Given the description of an element on the screen output the (x, y) to click on. 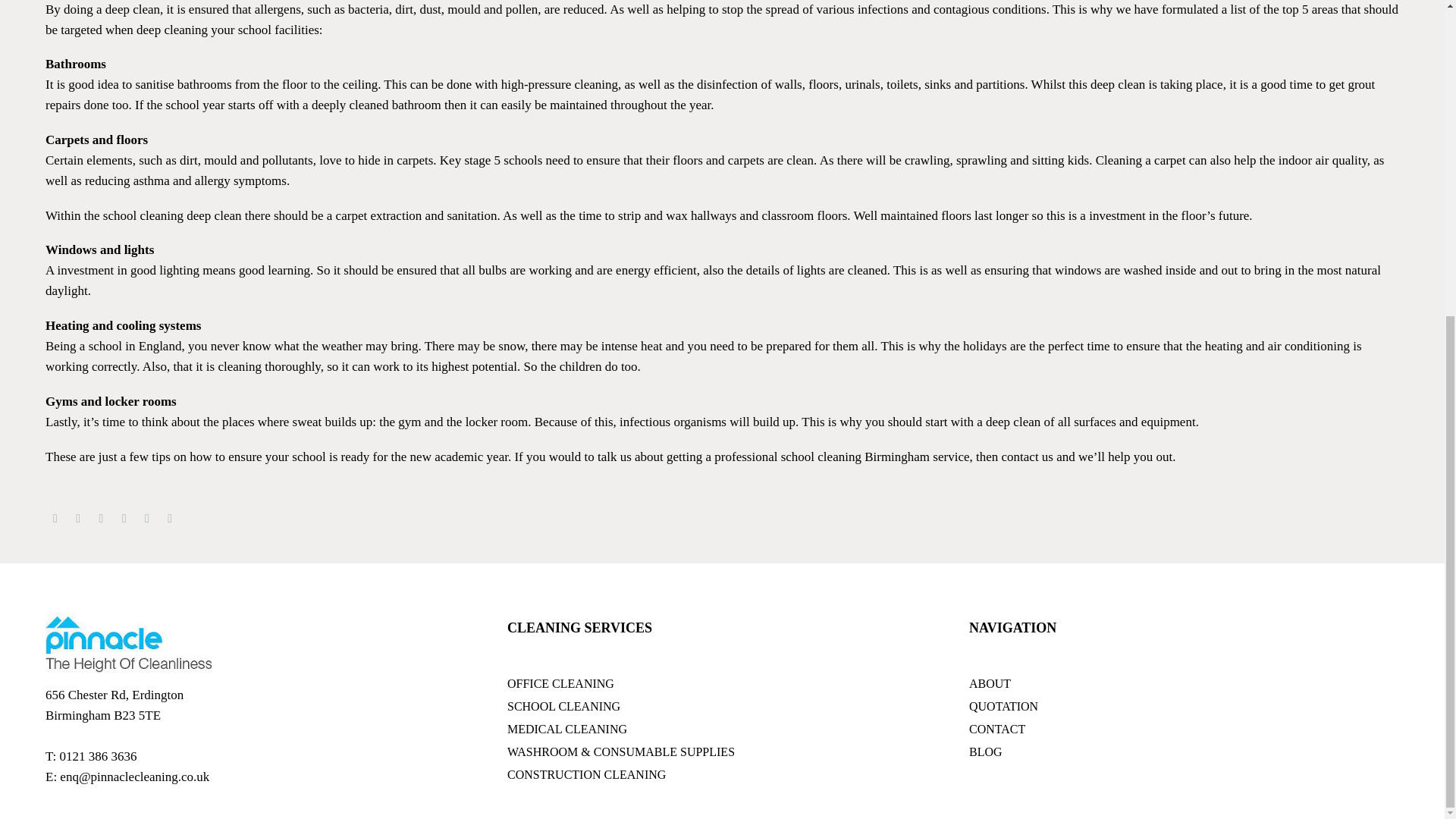
SCHOOL CLEANING (721, 706)
CONSTRUCTION CLEANING (721, 774)
Pinterest (101, 517)
BLOG (1184, 752)
MEDICAL CLEANING (721, 729)
Twitter (77, 517)
LinkedIn (146, 517)
Facebook (55, 517)
Tumblr (124, 517)
OFFICE CLEANING (721, 683)
school cleaning Birmingham service (874, 456)
CONTACT (1184, 729)
Reddit (169, 517)
ABOUT (1184, 683)
QUOTATION (1184, 706)
